Given the description of an element on the screen output the (x, y) to click on. 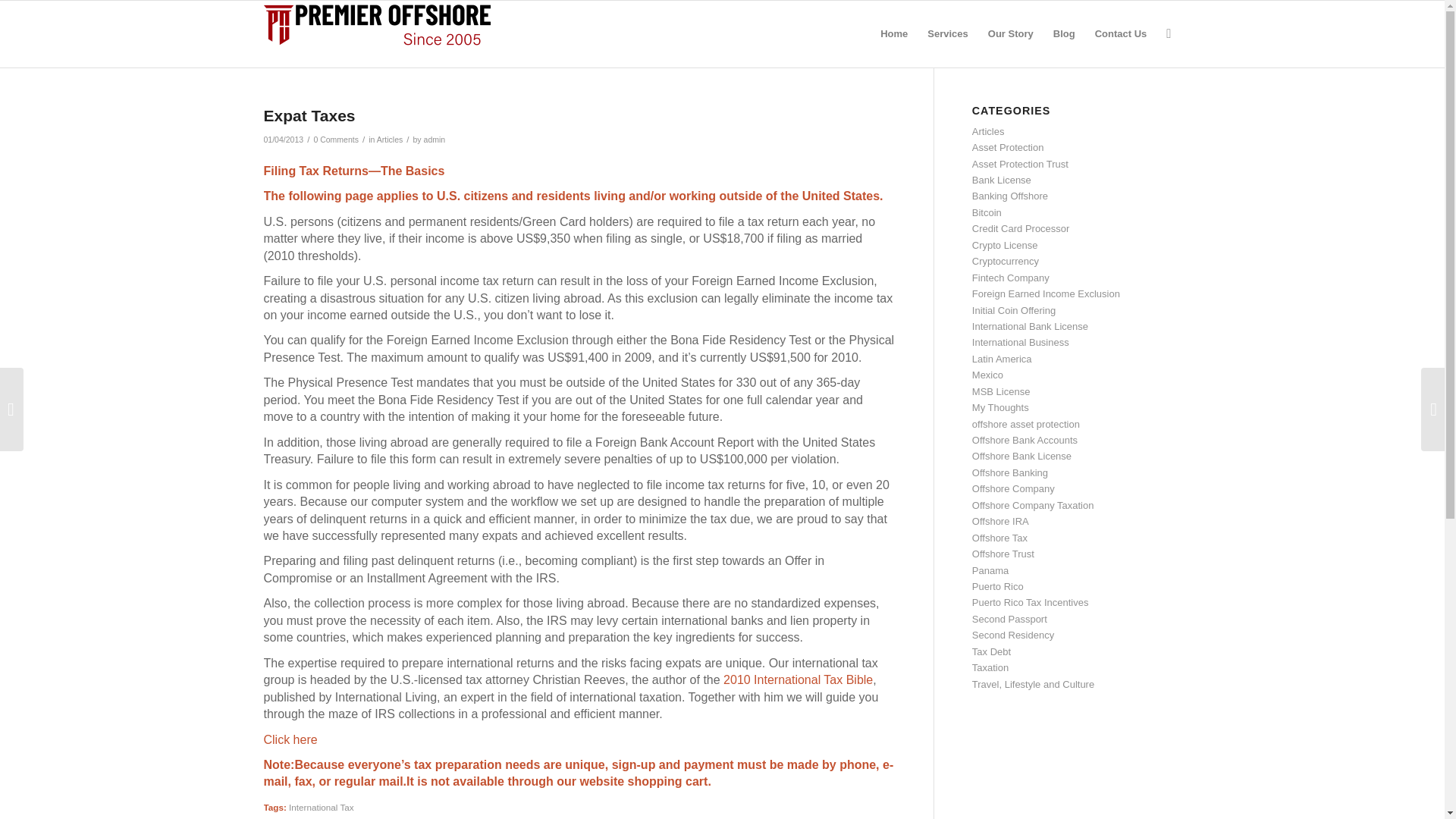
Cryptocurrency (1005, 260)
admin (434, 139)
Fintech Company (1010, 277)
International Tax (320, 807)
Foreign Earned Income Exclusion (1045, 293)
Articles (988, 131)
Click here (290, 739)
Articles (390, 139)
2010 International Tax Bible (797, 679)
Bitcoin (986, 212)
International Bank License (1029, 326)
Contact Us (1120, 33)
Banking Offshore (1010, 195)
Our Story (1010, 33)
Bank License (1001, 179)
